Given the description of an element on the screen output the (x, y) to click on. 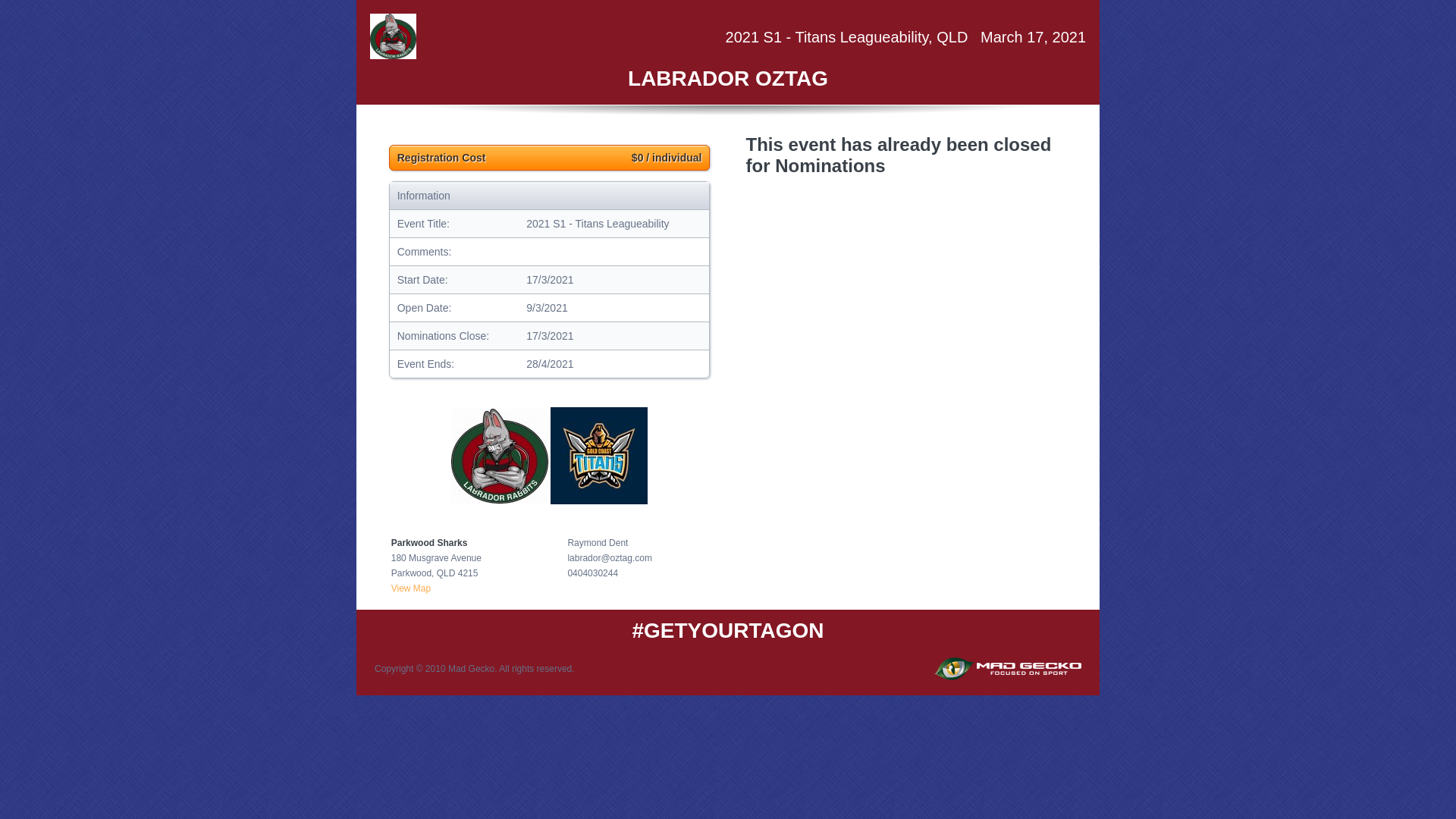
View Map Element type: text (410, 588)
